Given the description of an element on the screen output the (x, y) to click on. 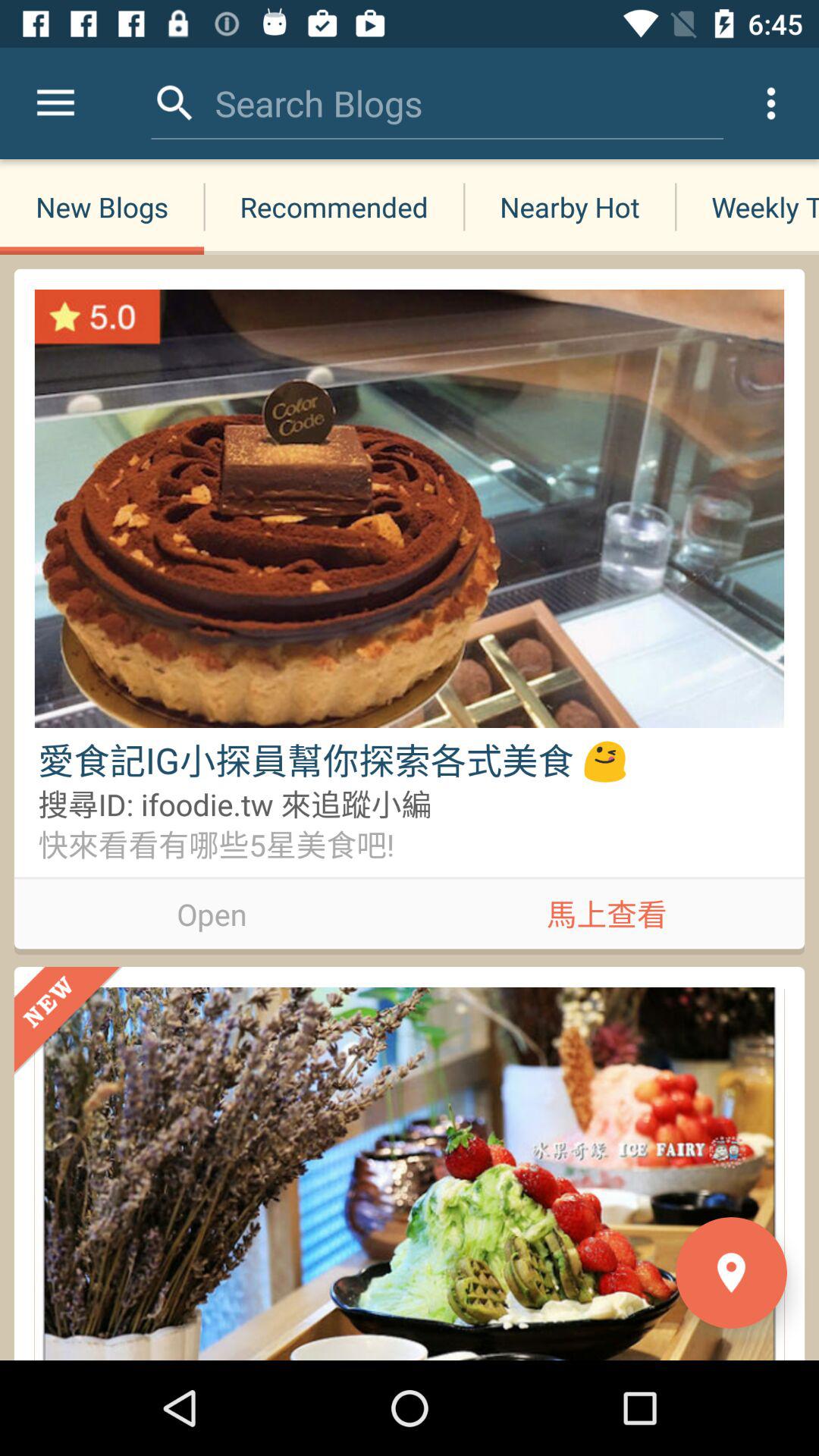
choose the icon to the left of the nearby hot (318, 103)
